Given the description of an element on the screen output the (x, y) to click on. 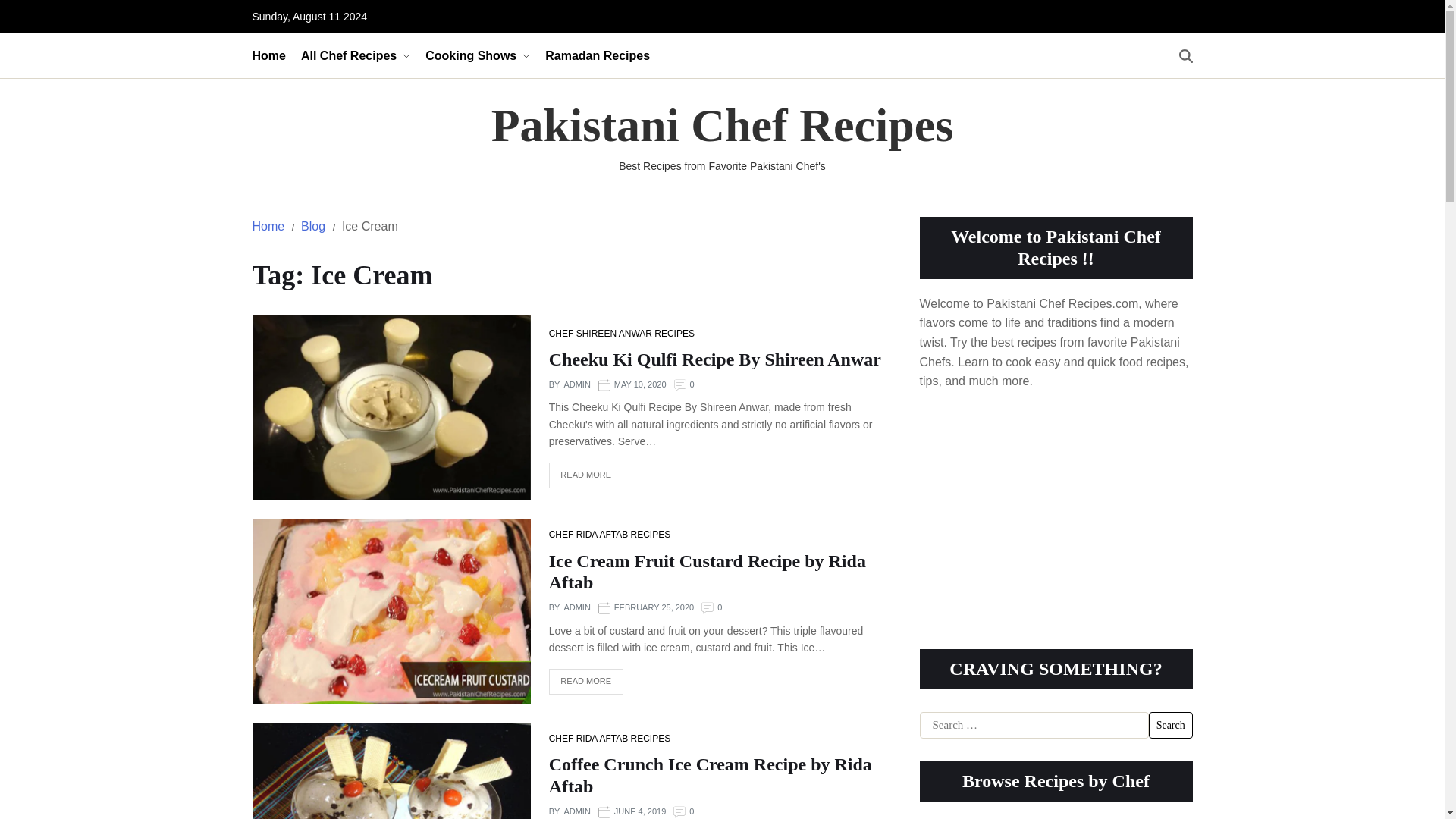
READ MORE (585, 475)
Coffee Crunch Ice Cream Recipe by Rida Aftab (710, 775)
Search (1170, 725)
Pakistani Chef Recipes (722, 124)
Cooking Shows (477, 55)
Advertisement (1055, 512)
Ice Cream Fruit Custard Recipe by Rida Aftab (707, 571)
Home (267, 226)
CHEF RIDA AFTAB RECIPES (608, 534)
Ramadan Recipes (596, 55)
